Given the description of an element on the screen output the (x, y) to click on. 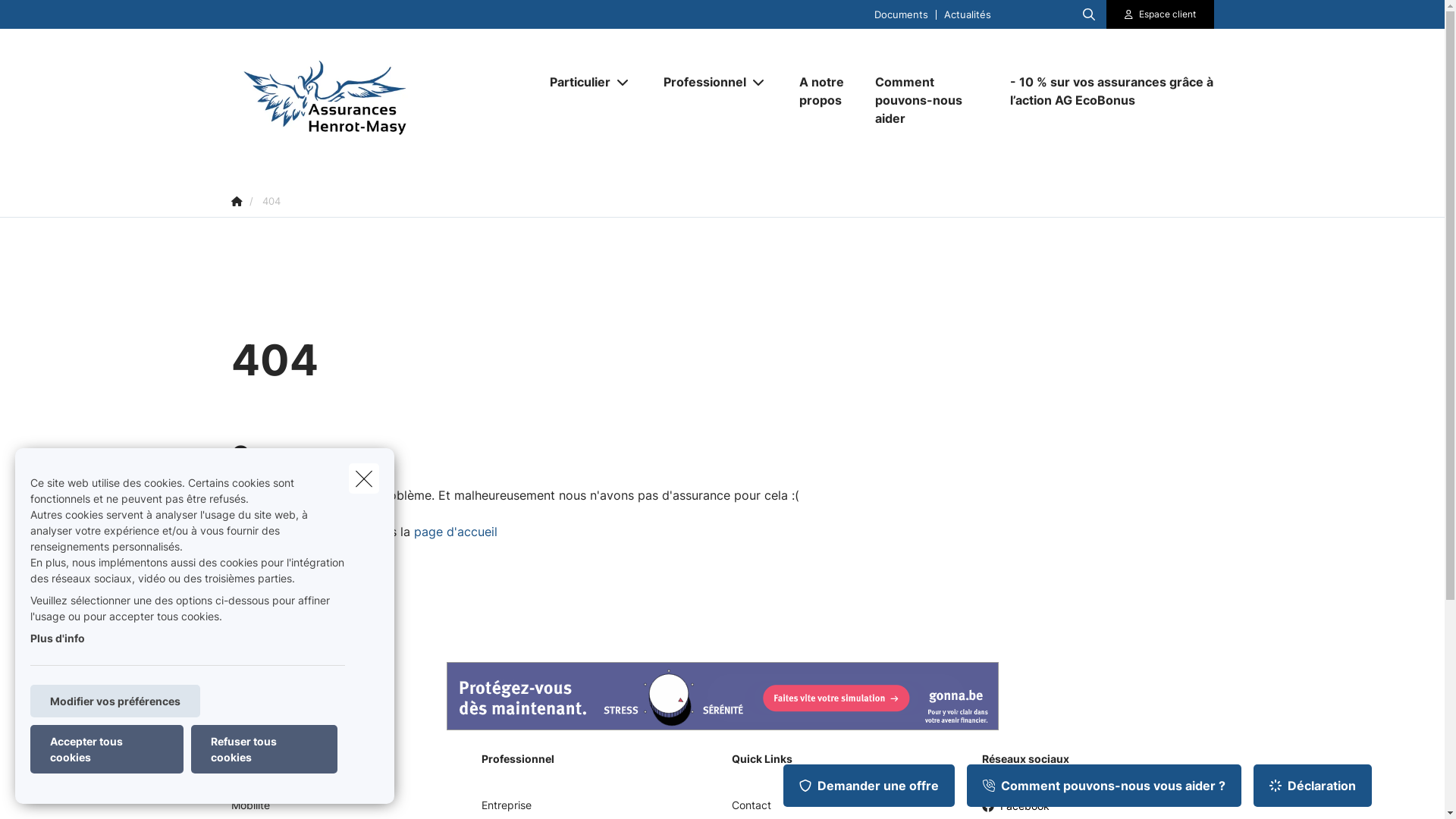
Comment pouvons-nous aider Element type: text (926, 99)
Comment pouvons-nous vous aider ? Element type: text (1103, 785)
Professionnel Element type: text (698, 81)
page d'accueil Element type: text (455, 531)
Demander une offre Element type: text (868, 785)
Espace client Element type: text (1167, 14)
Plus d'info Element type: text (57, 637)
Documents Element type: text (900, 13)
Refuser tous cookies Element type: text (264, 748)
Particulier Element type: text (573, 81)
A notre propos Element type: text (822, 90)
Accepter tous cookies Element type: text (106, 748)
Rechercher Element type: text (54, 18)
Espace client Element type: text (1160, 14)
